Given the description of an element on the screen output the (x, y) to click on. 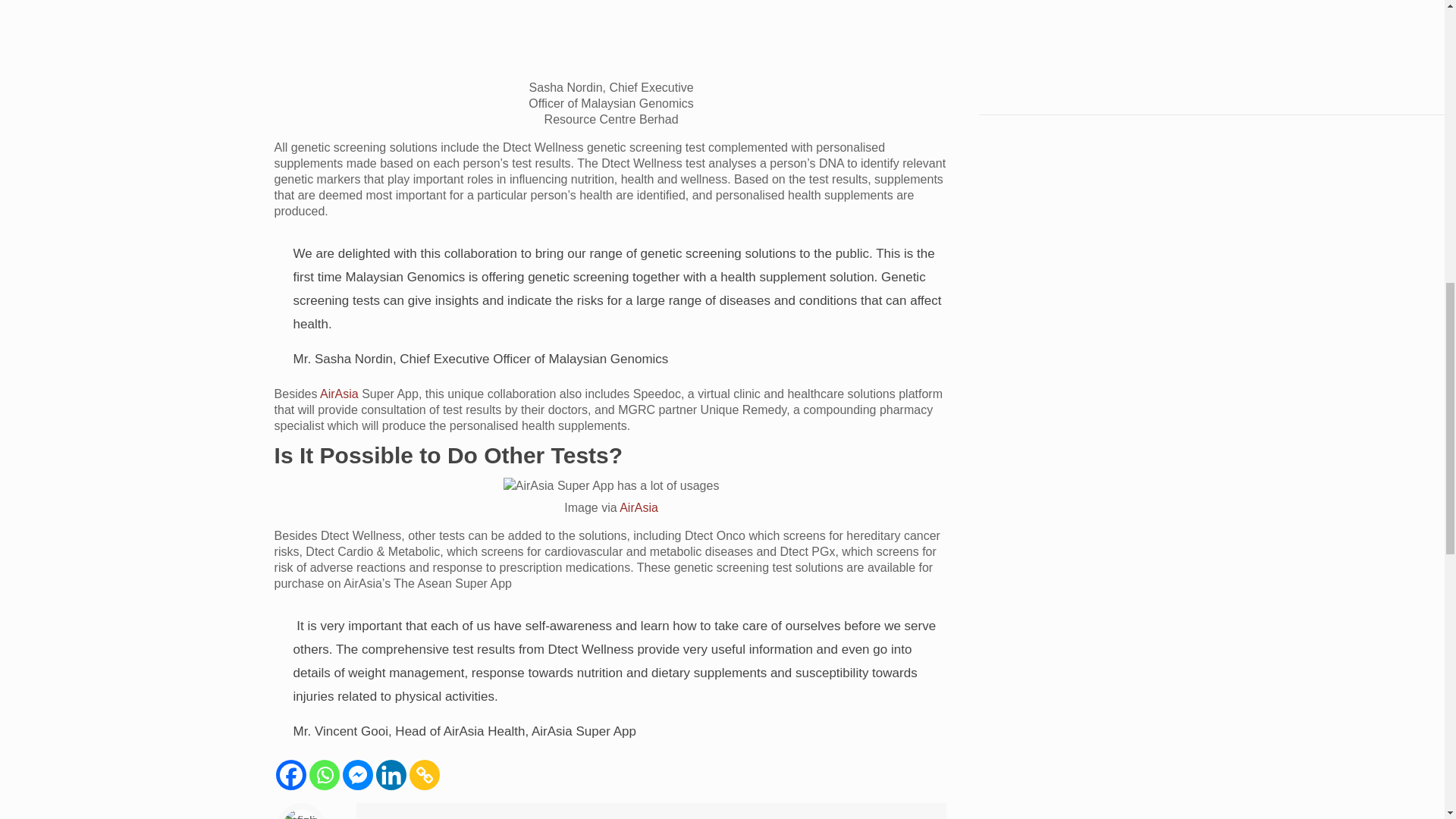
AirAsia (339, 393)
Linkedin (390, 775)
Copy Link (424, 775)
Whatsapp (323, 775)
YouTube video player (1074, 38)
Facebook (290, 775)
AirAsia (639, 507)
Syazlin Sofian (417, 818)
